Given the description of an element on the screen output the (x, y) to click on. 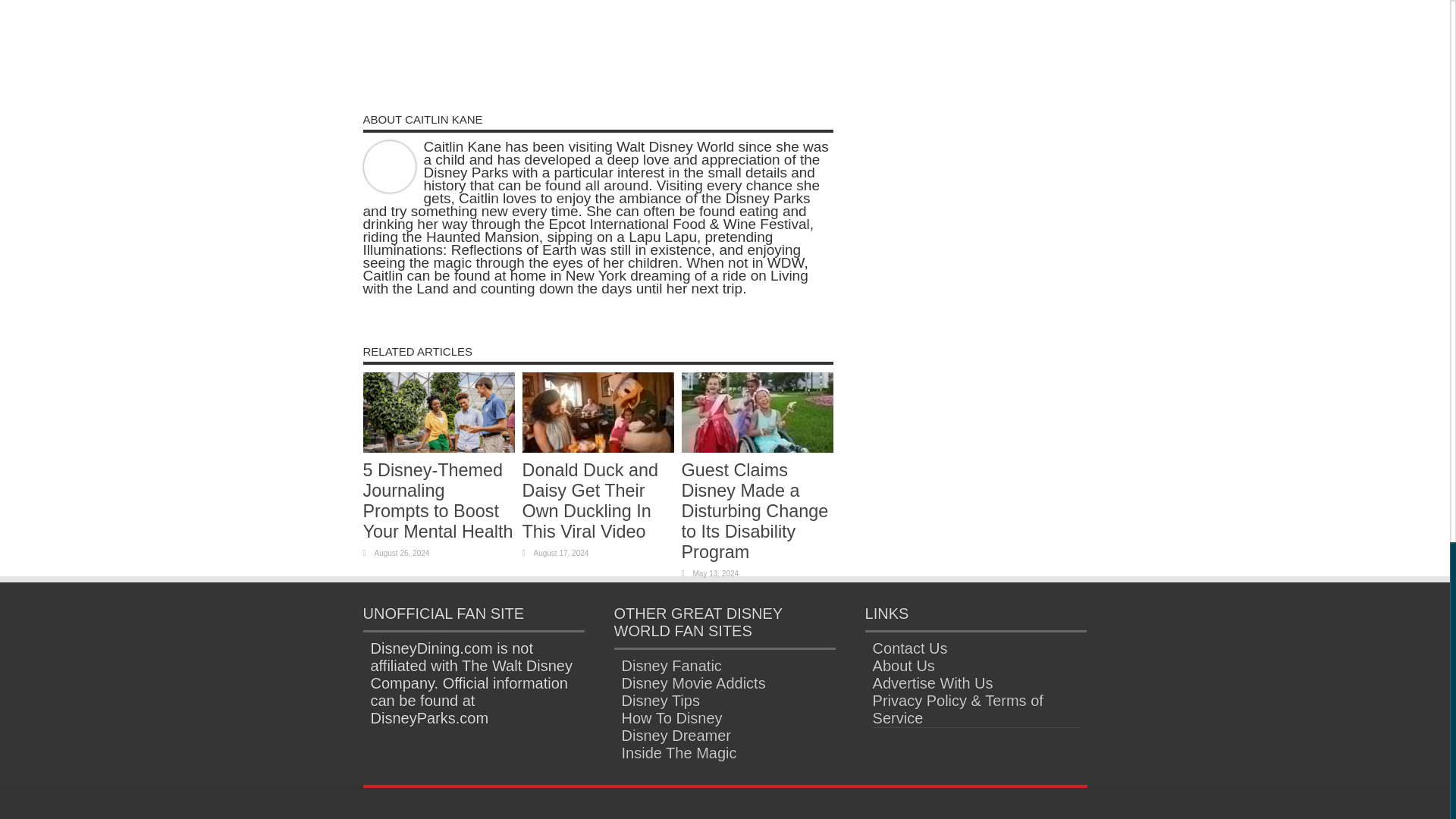
Disney Fanatic (671, 665)
